Given the description of an element on the screen output the (x, y) to click on. 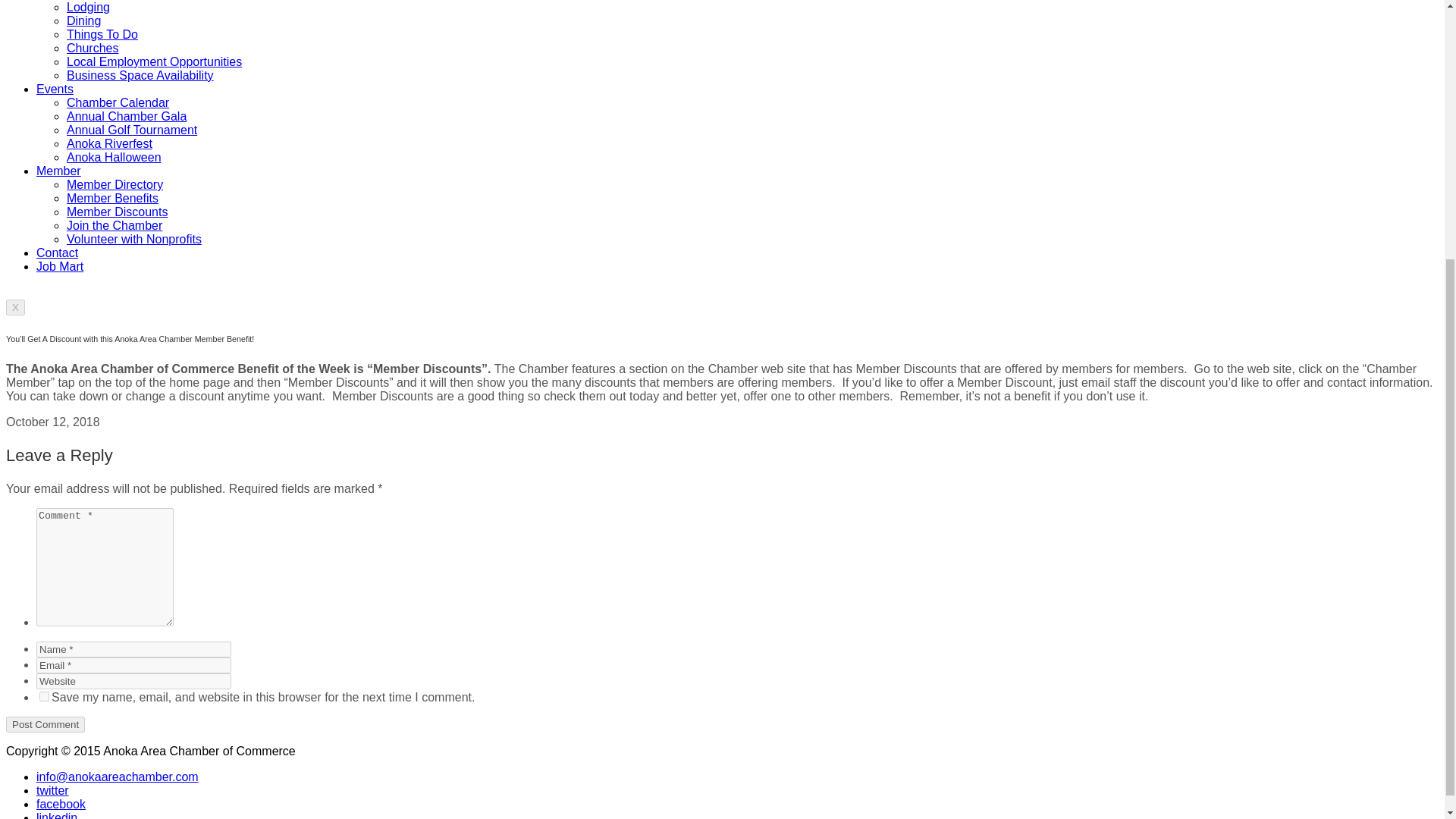
Member Benefits (112, 197)
Lodging (88, 6)
Website (133, 681)
Volunteer with Nonprofits (134, 238)
Local Employment Opportunities (153, 61)
Churches (91, 47)
Annual Golf Tournament (131, 129)
Member Directory (114, 184)
Annual Chamber Gala (126, 115)
Member Discounts (116, 211)
Facebook (60, 803)
Post Comment (44, 724)
Business Space Availability (140, 74)
Chamber Calendar (117, 102)
Contact (57, 252)
